Given the description of an element on the screen output the (x, y) to click on. 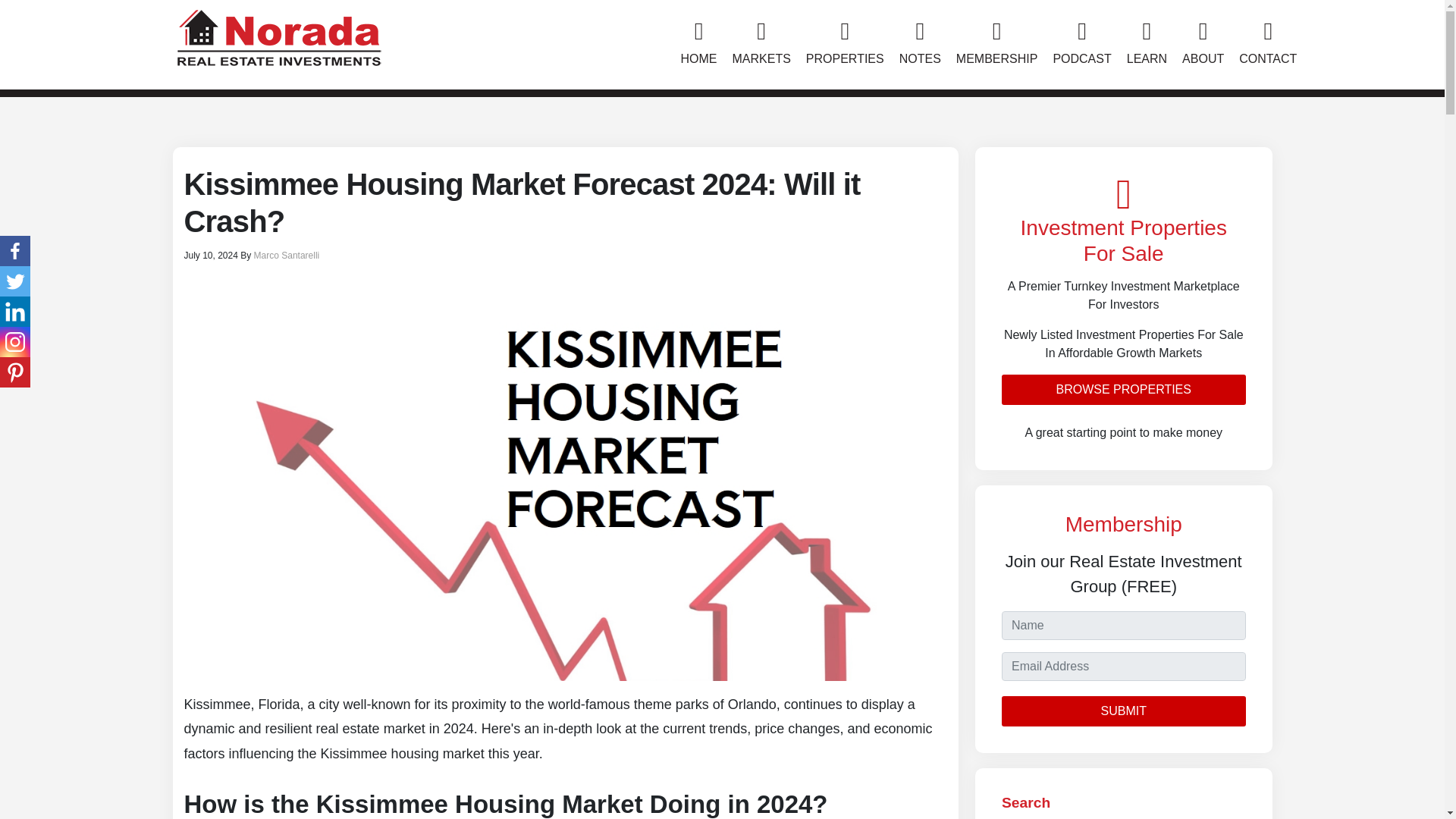
Submit (1123, 711)
Facebook (15, 250)
Submit (1123, 711)
NORADA REAL ESTATE INVESTMENTS (278, 35)
Pinterest (15, 372)
Linkedin (15, 311)
Instagram (15, 341)
BROWSE PROPERTIES (1123, 389)
MEMBERSHIP (997, 44)
Twitter (15, 281)
